Given the description of an element on the screen output the (x, y) to click on. 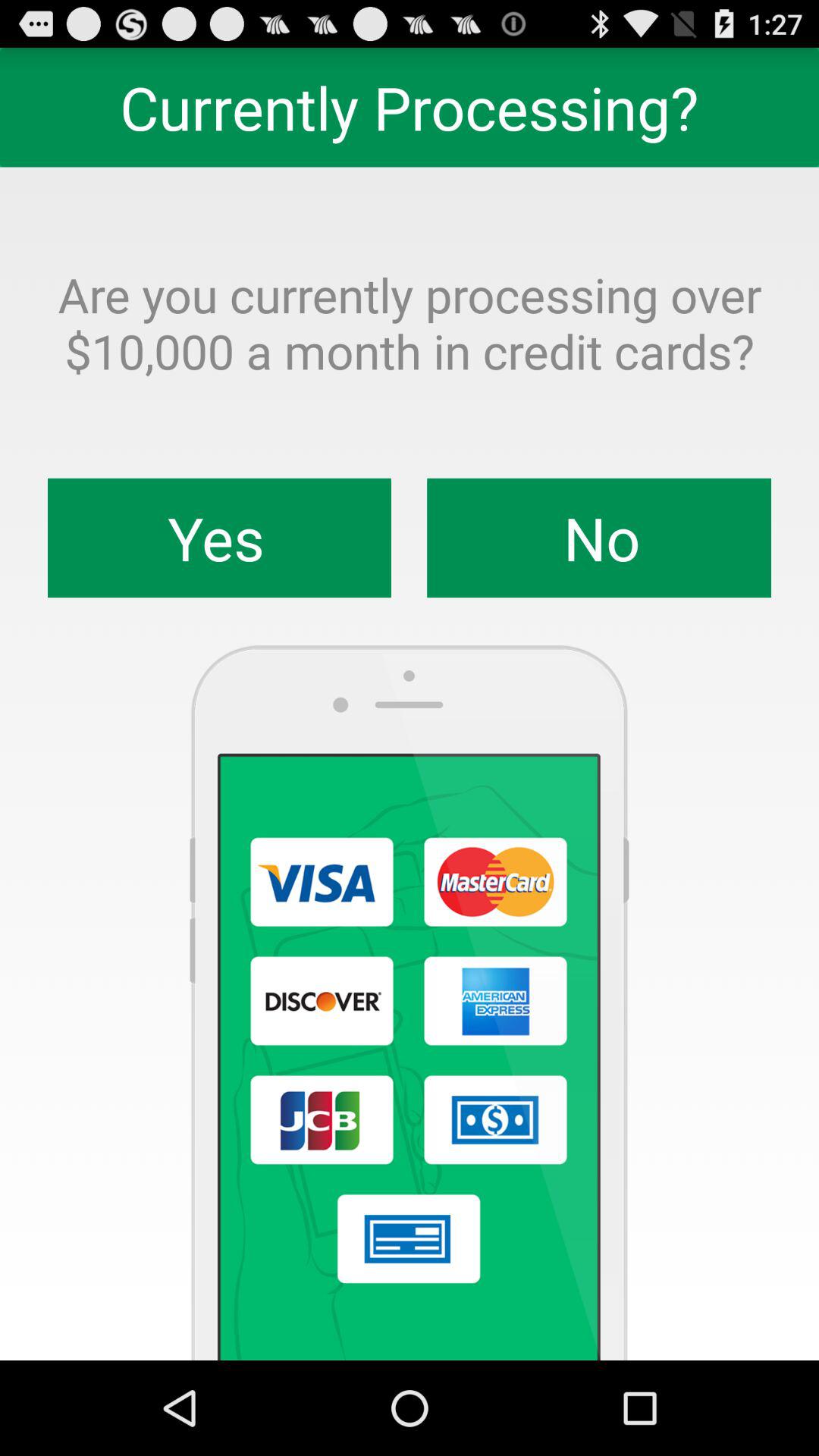
jump to yes item (219, 537)
